Given the description of an element on the screen output the (x, y) to click on. 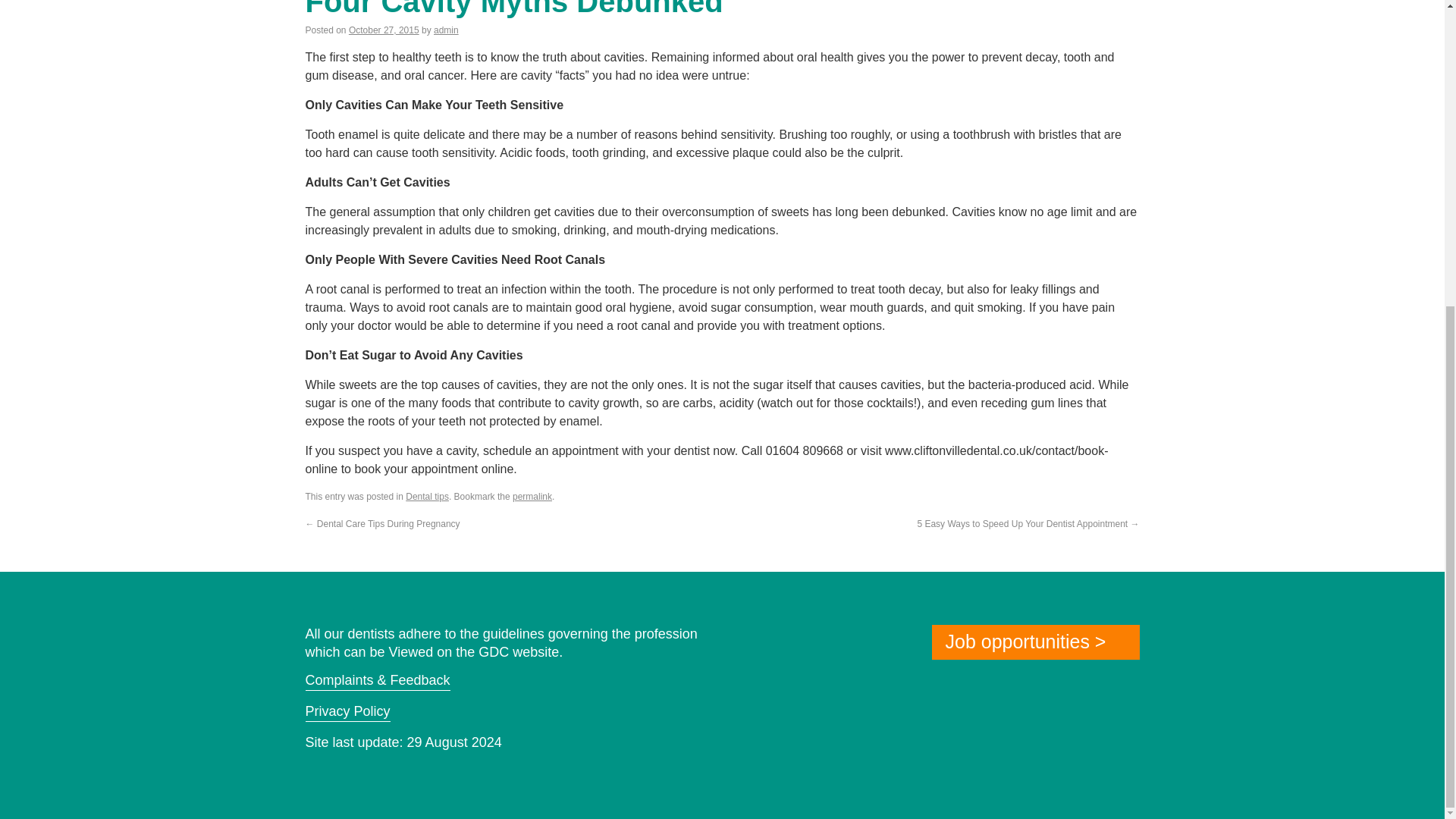
Permalink to Four Cavity Myths Debunked (531, 496)
View all posts by admin (445, 30)
11:49 am (384, 30)
